Given the description of an element on the screen output the (x, y) to click on. 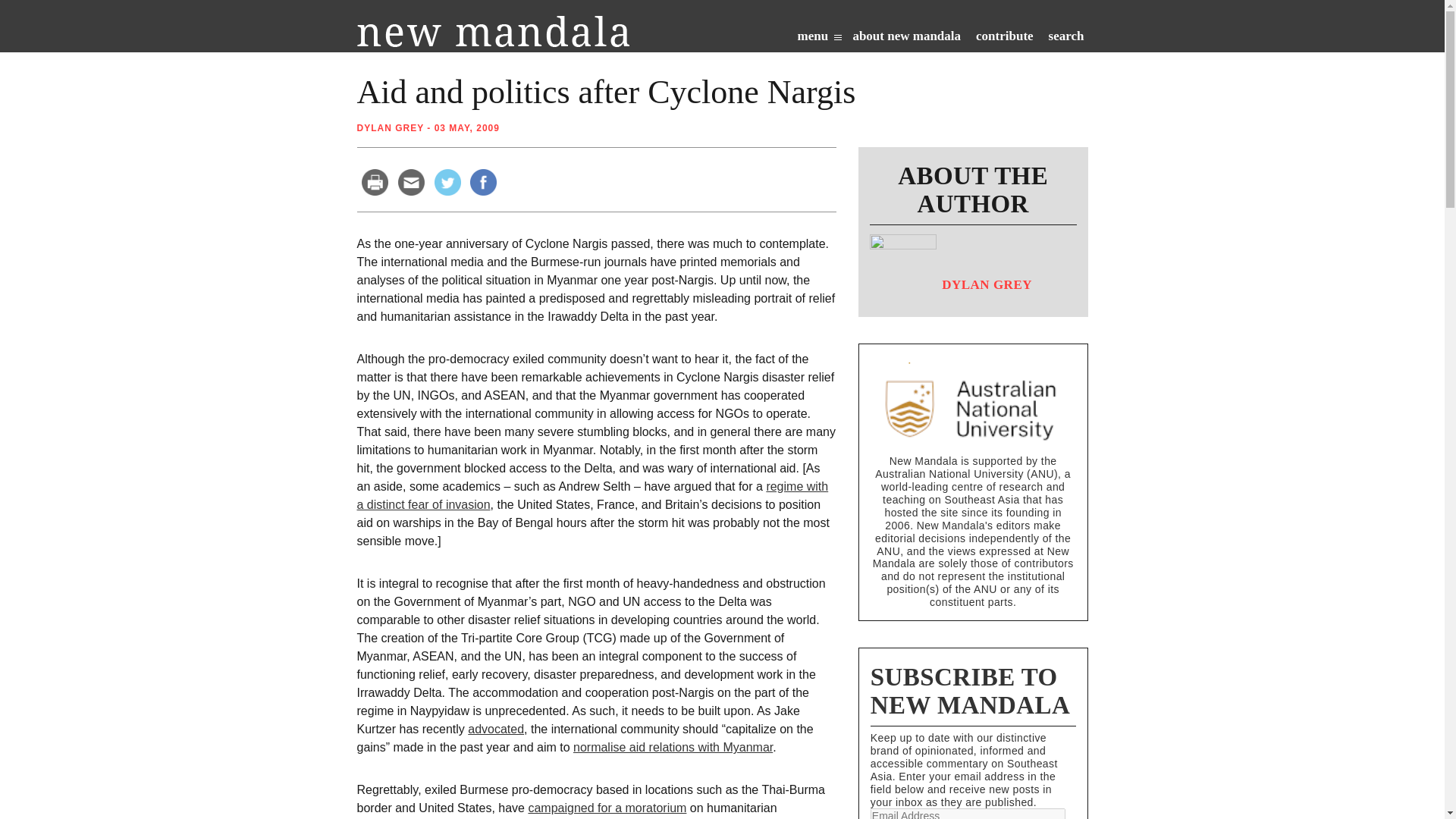
campaigned for a moratorium (606, 807)
contribute (1004, 39)
DYLAN GREY (950, 295)
search (1066, 39)
DYLAN GREY (389, 127)
menu (819, 39)
advocated (495, 728)
regime with a distinct fear of invasion (592, 495)
NEW PERSPECTIVES ON SOUTHEAST ASIA (492, 30)
normalise aid relations with Myanmar (673, 747)
